Given the description of an element on the screen output the (x, y) to click on. 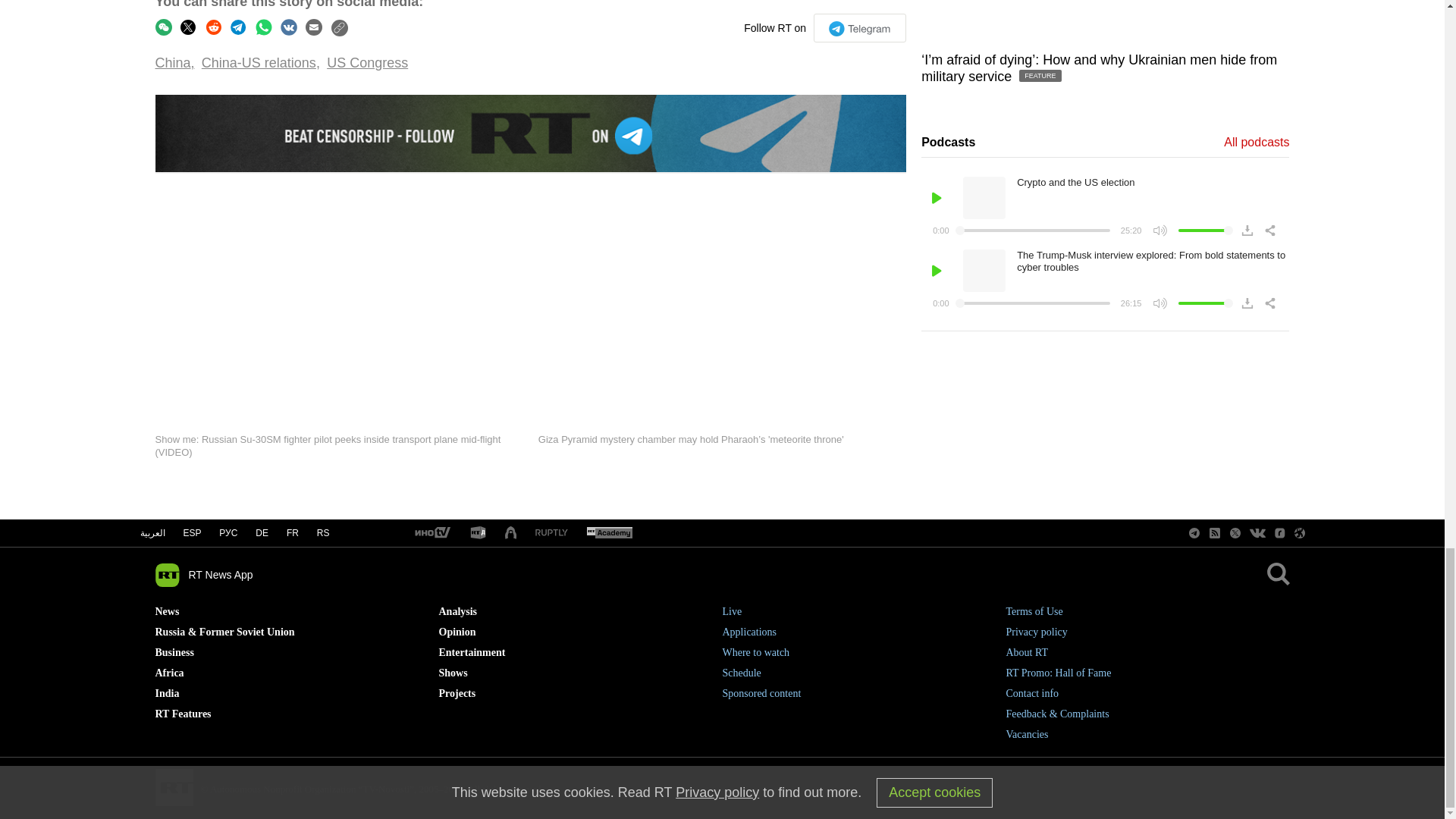
RT  (431, 533)
RT  (608, 533)
RT  (551, 533)
RT  (478, 533)
